Given the description of an element on the screen output the (x, y) to click on. 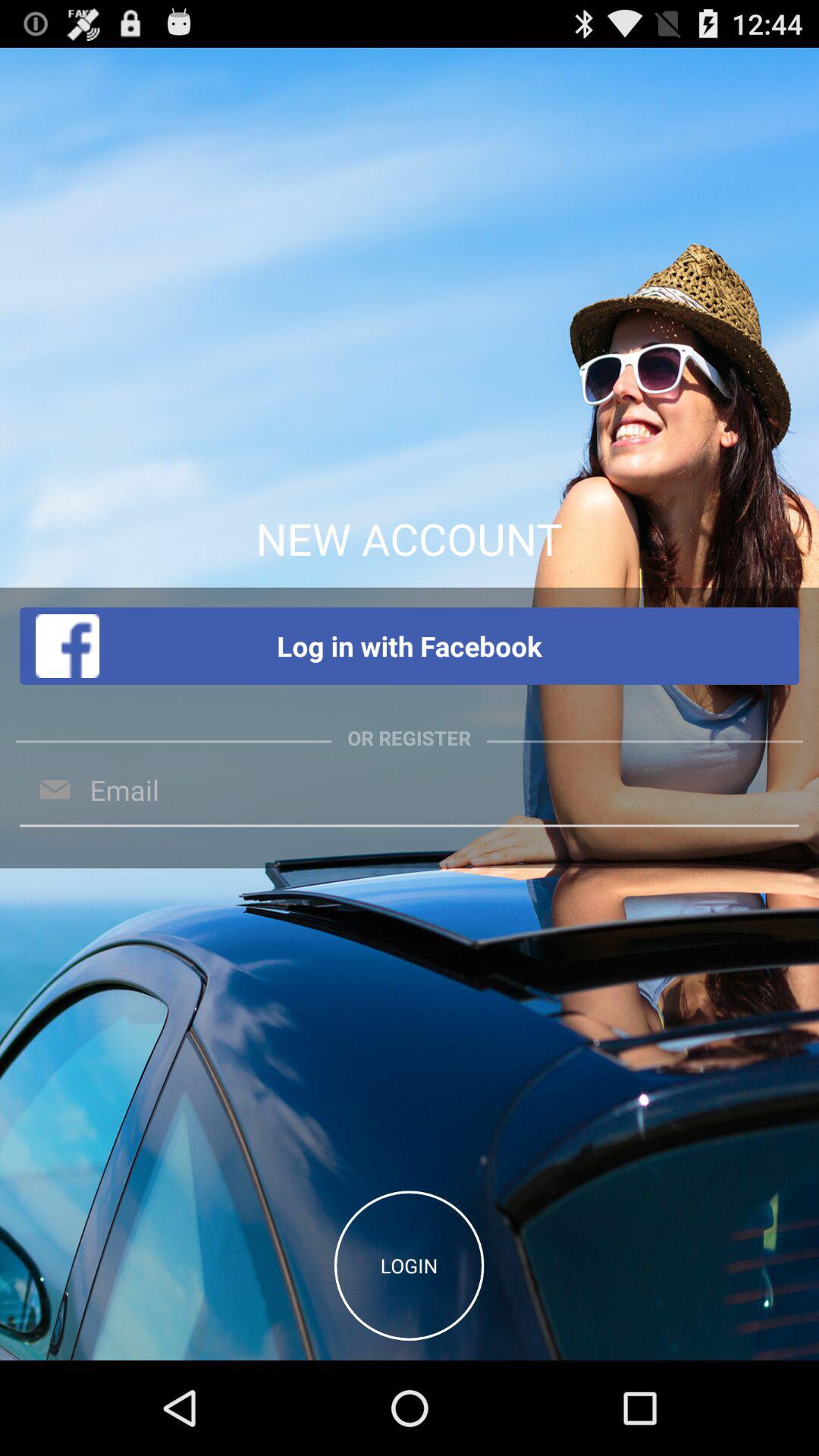
launch the item below the new account app (409, 645)
